Given the description of an element on the screen output the (x, y) to click on. 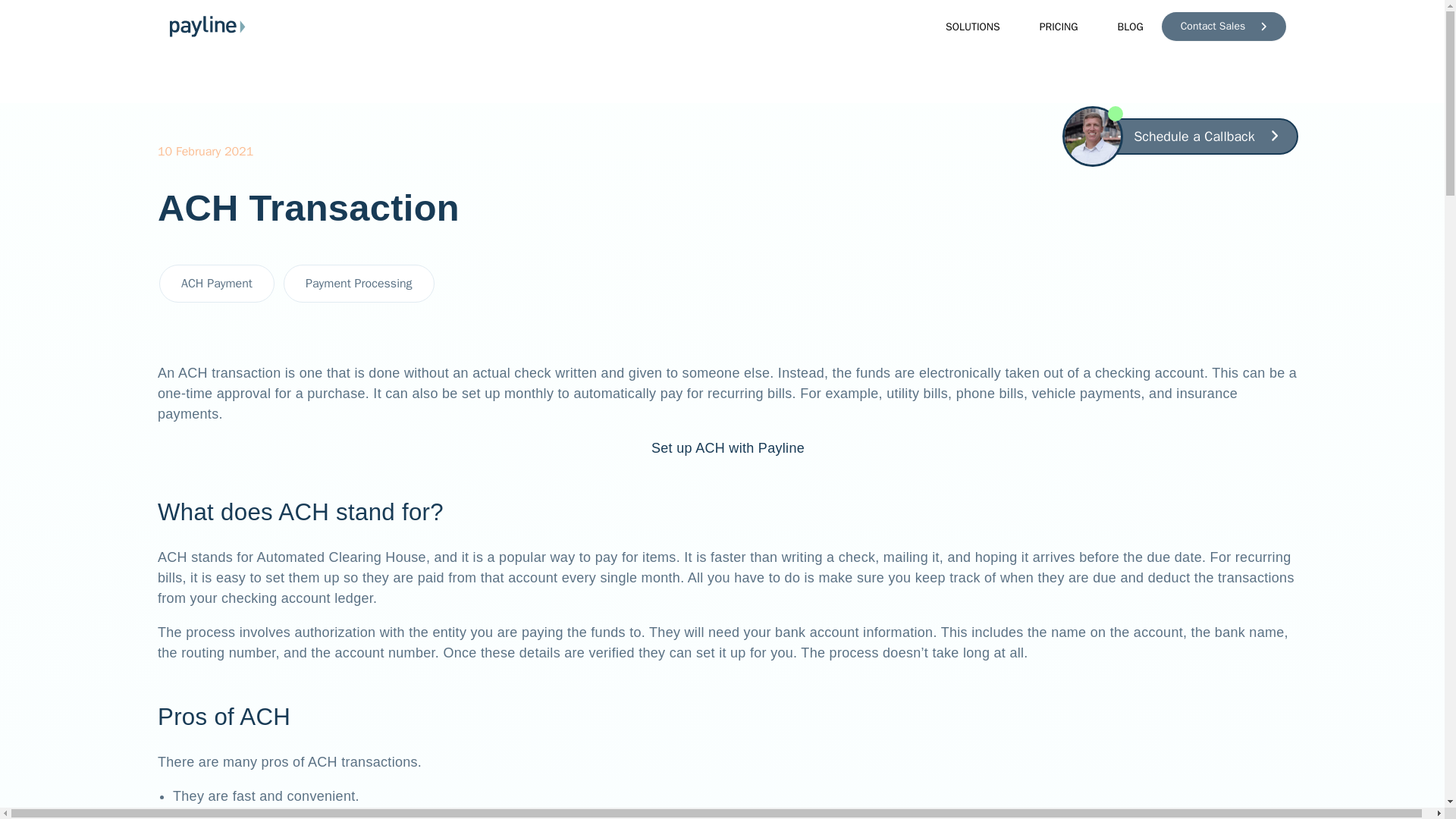
ACH Payment (216, 283)
Set up ACH with Payline (727, 447)
Payment Processing (358, 283)
ACH Payment (216, 283)
BLOG (1119, 26)
Schedule a Callback (1205, 135)
Contact Sales (1223, 26)
Payment Processing (358, 283)
SOLUTIONS (962, 26)
PRICING (1047, 26)
